Given the description of an element on the screen output the (x, y) to click on. 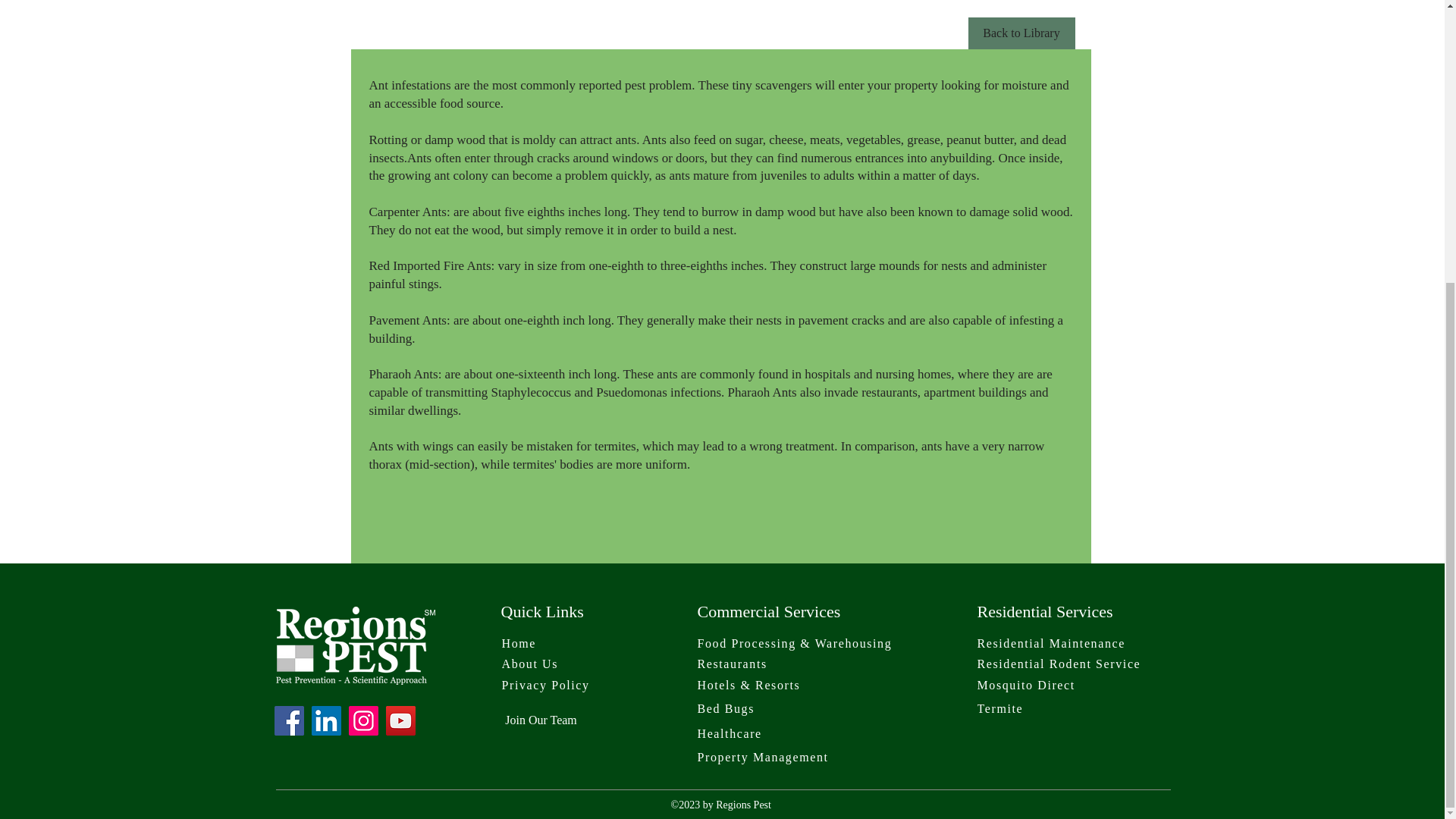
Home (536, 643)
Property Management (781, 757)
Restaurants (753, 664)
Healthcare (751, 733)
Mosquito Direct (1039, 685)
Termite (1014, 709)
Residential Maintenance (1072, 643)
Join Our Team (540, 720)
Privacy Policy (556, 685)
Bed Bugs (751, 709)
Back to Library (1021, 33)
Residential Rodent Service (1072, 664)
About Us (536, 664)
